Given the description of an element on the screen output the (x, y) to click on. 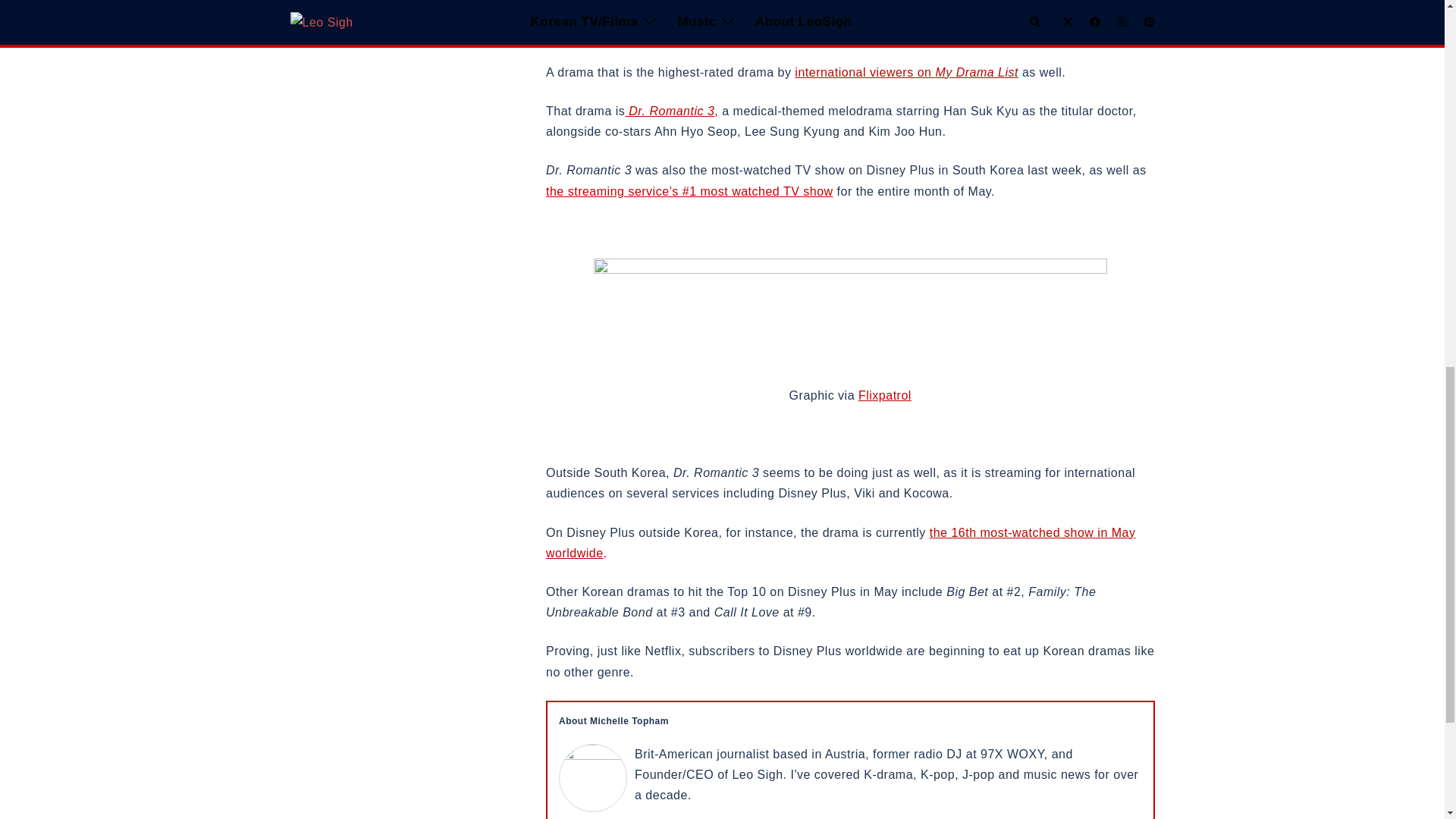
international viewers on My Drama List (905, 72)
the 16th most-watched show in May worldwide (840, 542)
Dr. Romantic 3 (669, 110)
Flixpatrol (885, 395)
